Given the description of an element on the screen output the (x, y) to click on. 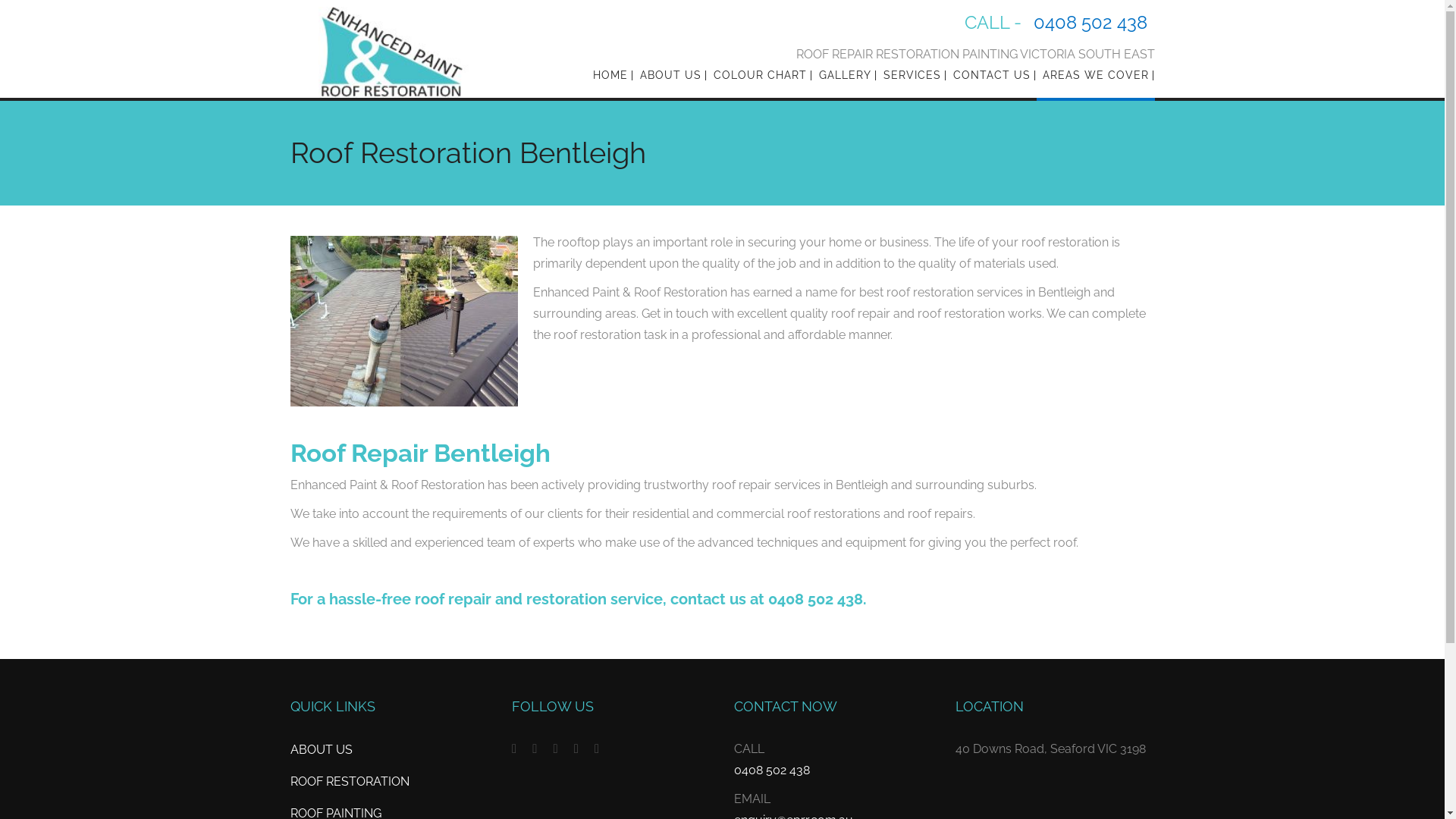
AREAS WE COVER Element type: text (1094, 74)
ABOUT US Element type: text (670, 74)
CONTACT US Element type: text (990, 74)
0408 502 438 Element type: text (1089, 22)
COLOUR CHART Element type: text (759, 74)
ROOF RESTORATION Element type: text (389, 781)
0408 502 438 Element type: text (771, 769)
ABOUT US Element type: text (389, 749)
HOME Element type: text (609, 74)
GALLERY Element type: text (844, 74)
SERVICES Element type: text (911, 74)
